Given the description of an element on the screen output the (x, y) to click on. 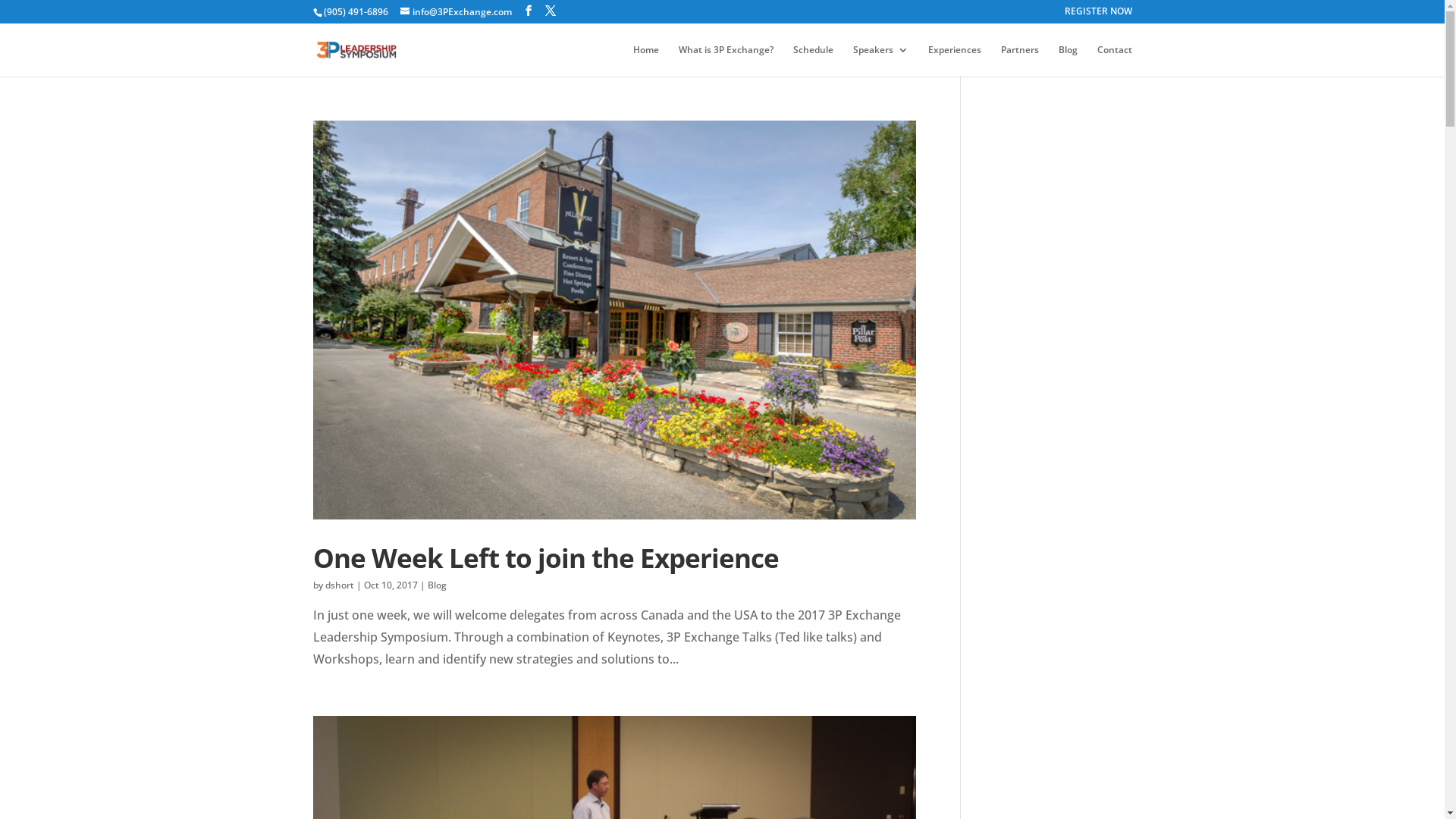
Schedule Element type: text (813, 60)
Contact Element type: text (1113, 60)
dshort Element type: text (338, 584)
Home Element type: text (645, 60)
REGISTER NOW Element type: text (1098, 14)
Speakers Element type: text (879, 60)
One Week Left to join the Experience Element type: text (545, 557)
What is 3P Exchange? Element type: text (724, 60)
Experiences Element type: text (954, 60)
Blog Element type: text (1067, 60)
Blog Element type: text (436, 584)
info@3PExchange.com Element type: text (455, 11)
Partners Element type: text (1019, 60)
